Given the description of an element on the screen output the (x, y) to click on. 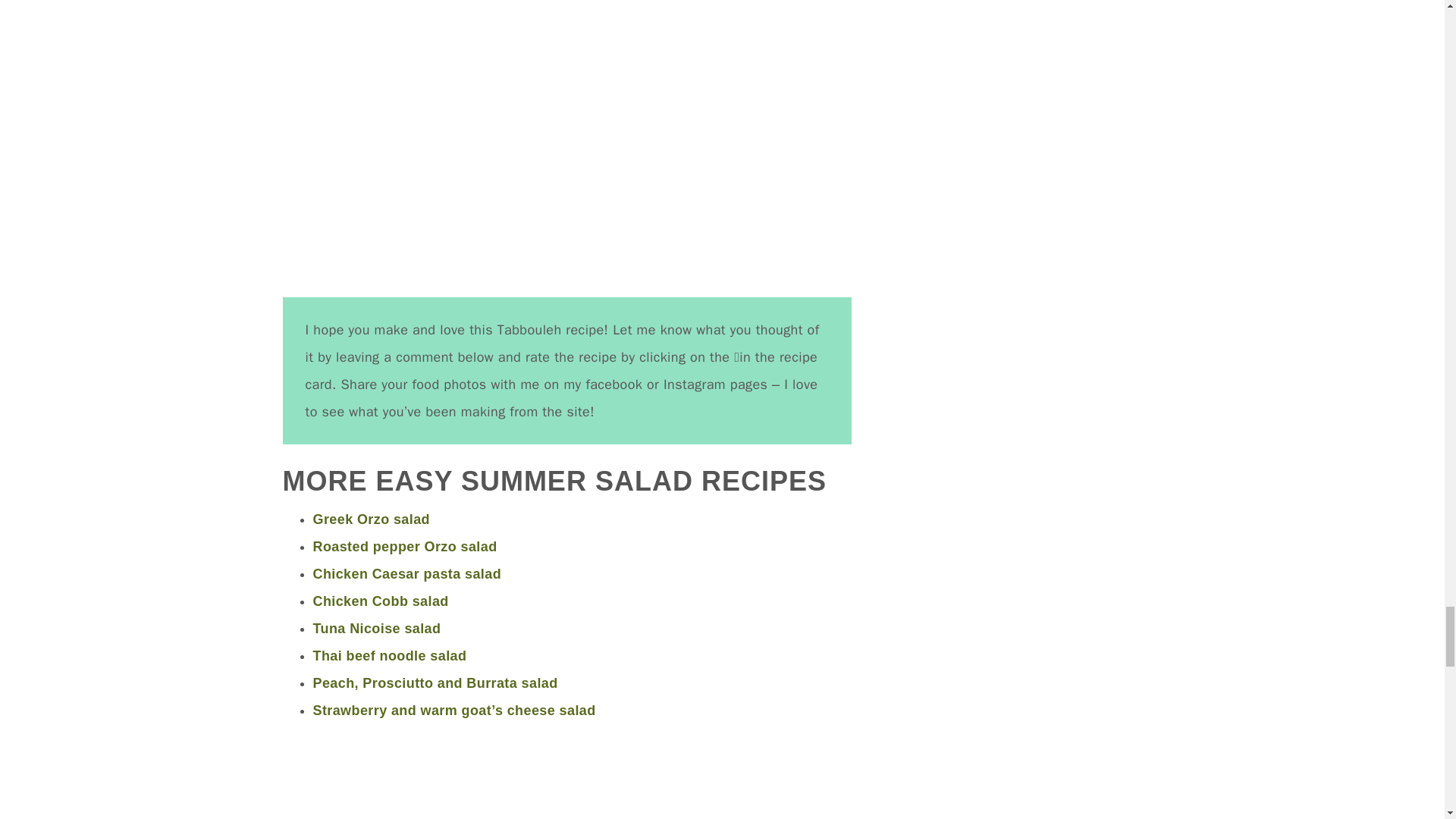
Peach, Prosciutto and Burrata salad (435, 682)
Roasted pepper Orzo salad (404, 545)
Greek Orzo salad (371, 518)
Chicken Caesar pasta salad (406, 572)
Instagram (692, 384)
facebook (611, 384)
Thai beef noodle salad (389, 654)
Chicken Cobb salad (380, 600)
Tuna Nicoise salad (377, 627)
